Given the description of an element on the screen output the (x, y) to click on. 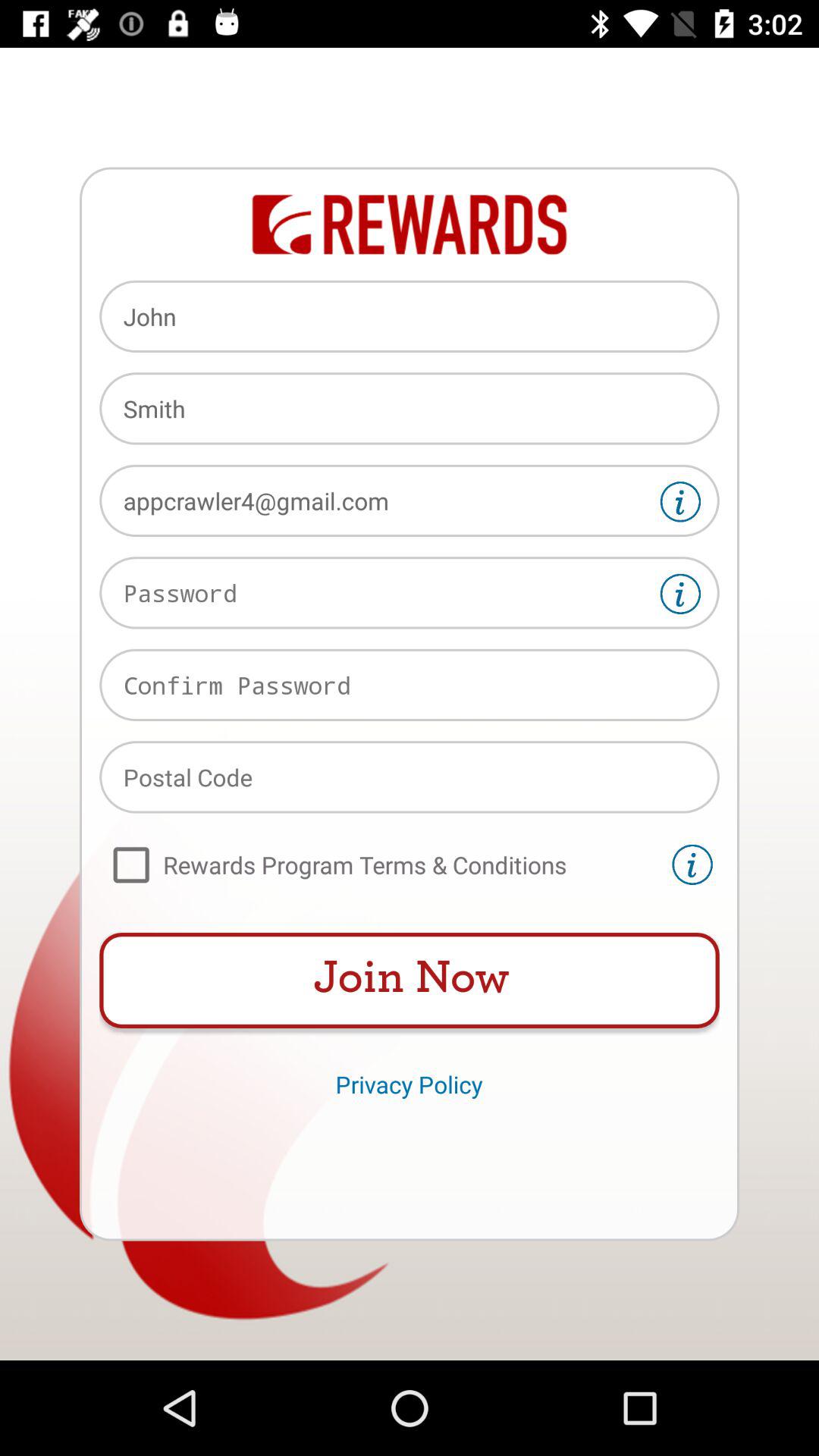
enter password (680, 594)
